Given the description of an element on the screen output the (x, y) to click on. 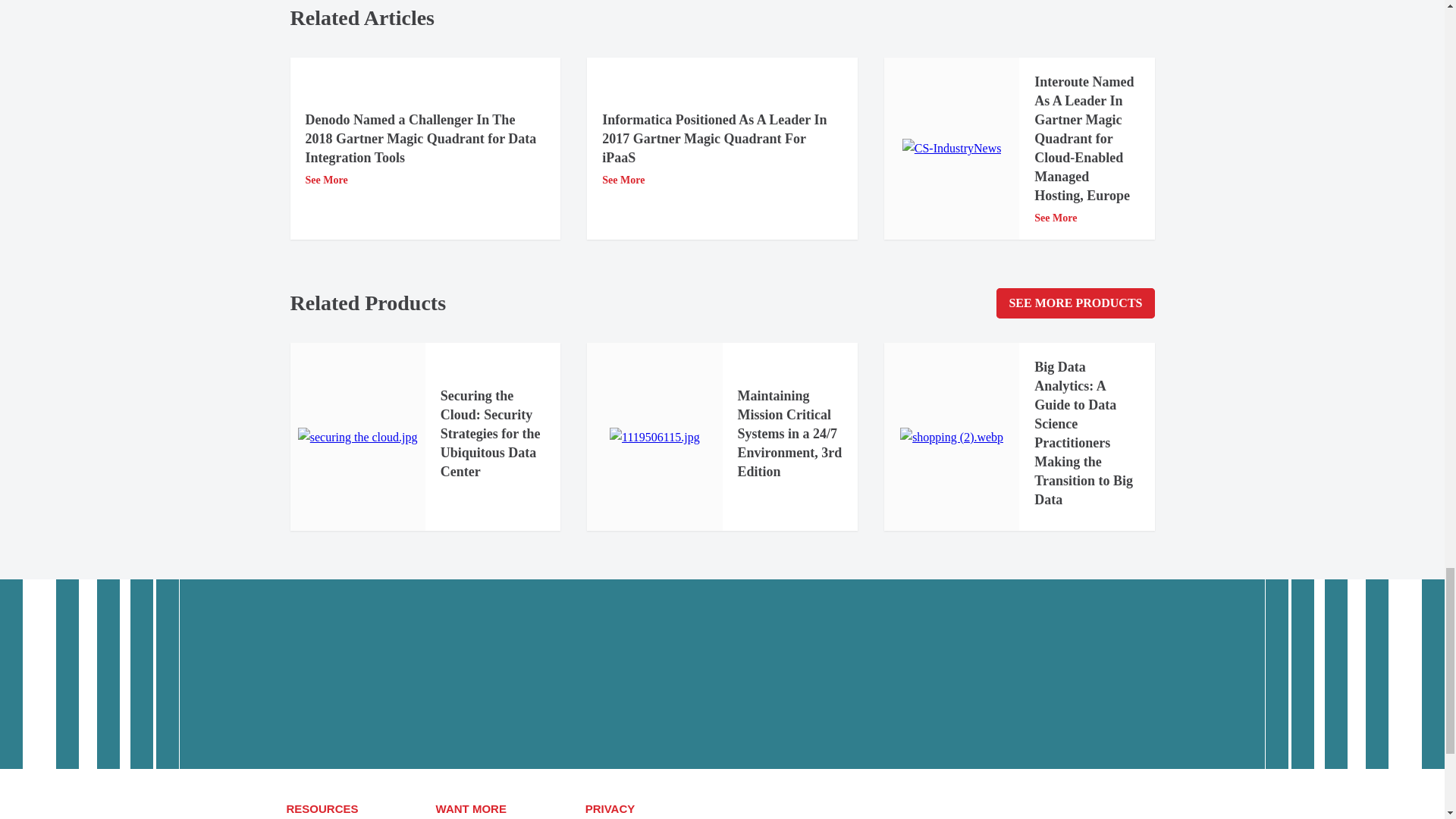
securing the cloud.jpg (357, 437)
CS-IndustryNews (951, 148)
1119506115.jpg (655, 437)
